Given the description of an element on the screen output the (x, y) to click on. 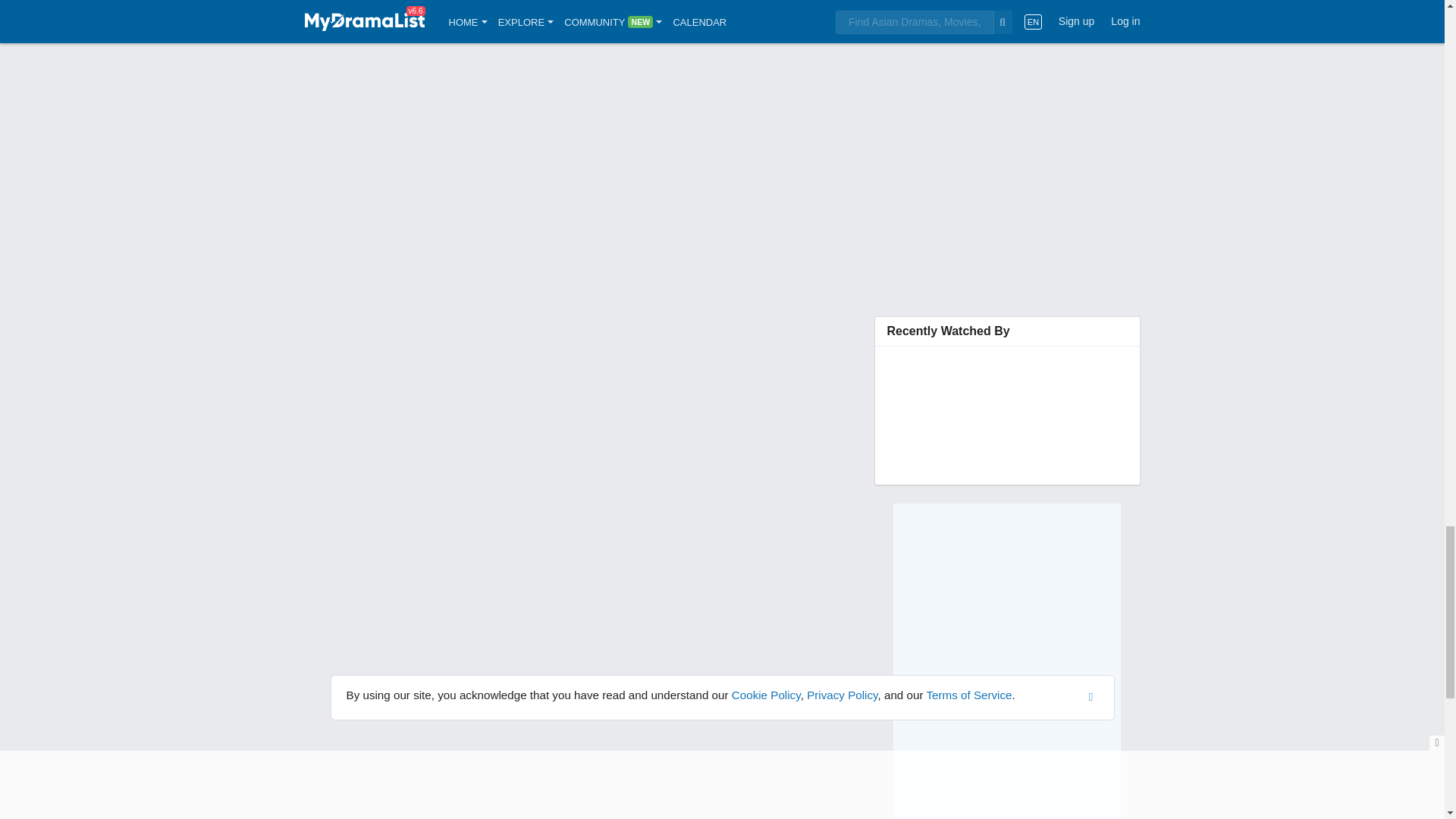
KunagaKishi (944, 399)
7821237 (975, 369)
SyiedaZ (912, 369)
dramagirl01 (975, 399)
Dashmount20 (1038, 369)
7579403 (1070, 369)
Insticator Content Engagement Unit (1007, 40)
dramelu (1038, 399)
alldrama28 (1007, 399)
Haezyi (944, 369)
8974653 (912, 399)
9123365 (1101, 369)
8280139 (1007, 369)
